Given the description of an element on the screen output the (x, y) to click on. 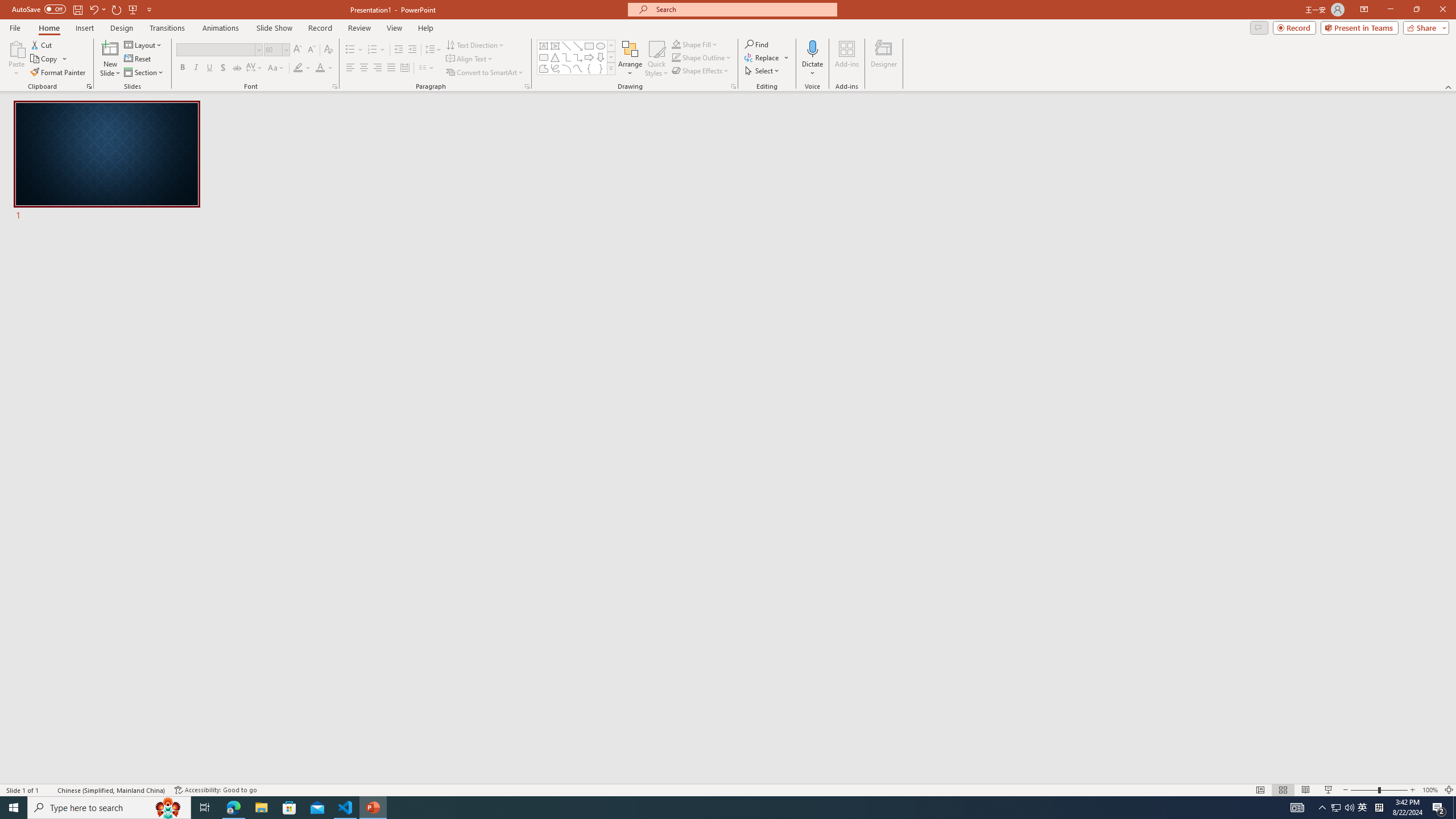
Shape Outline Blue, Accent 1 (675, 56)
